Given the description of an element on the screen output the (x, y) to click on. 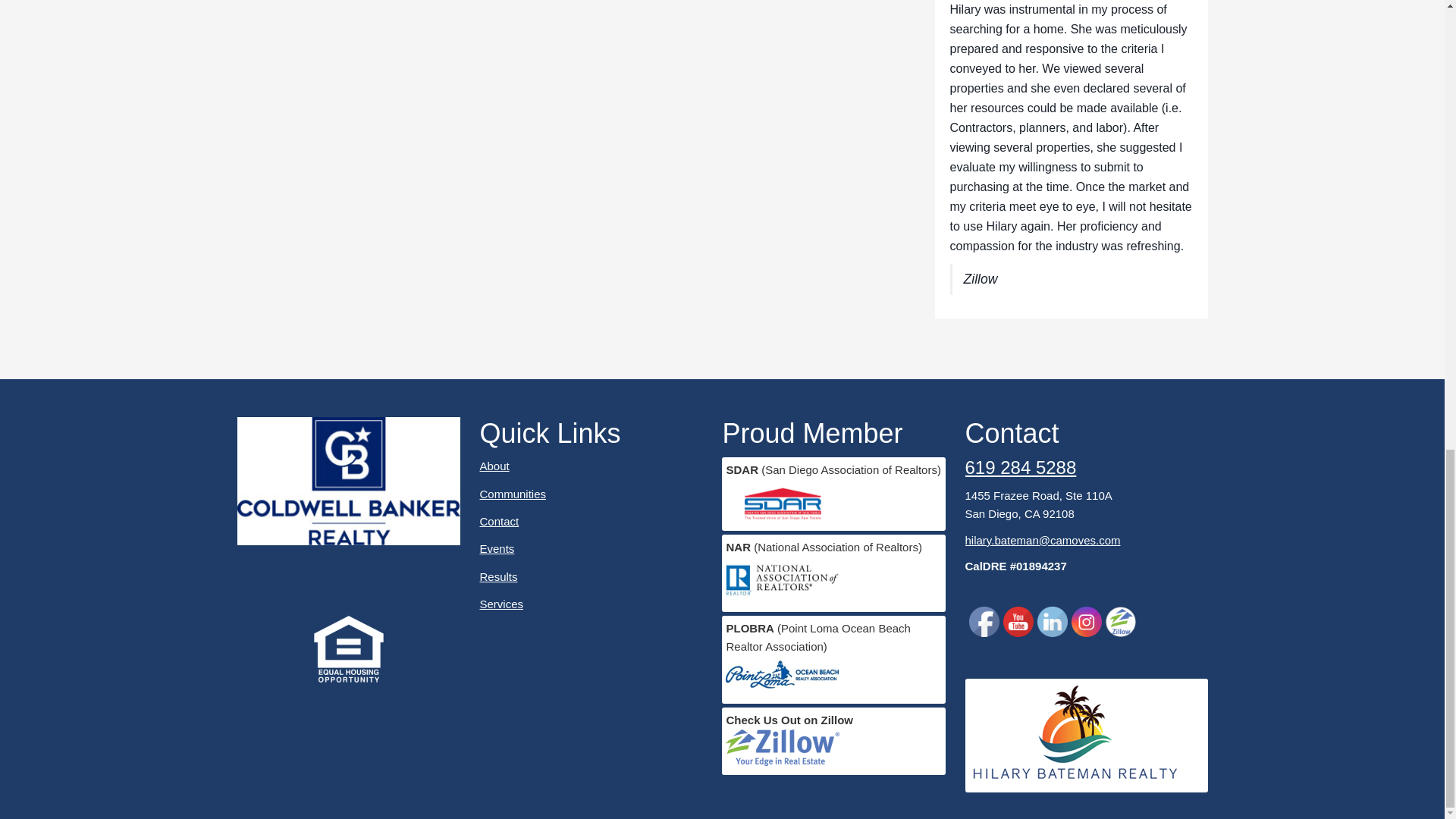
Facebook (983, 621)
LinkedIn (1051, 621)
